Given the description of an element on the screen output the (x, y) to click on. 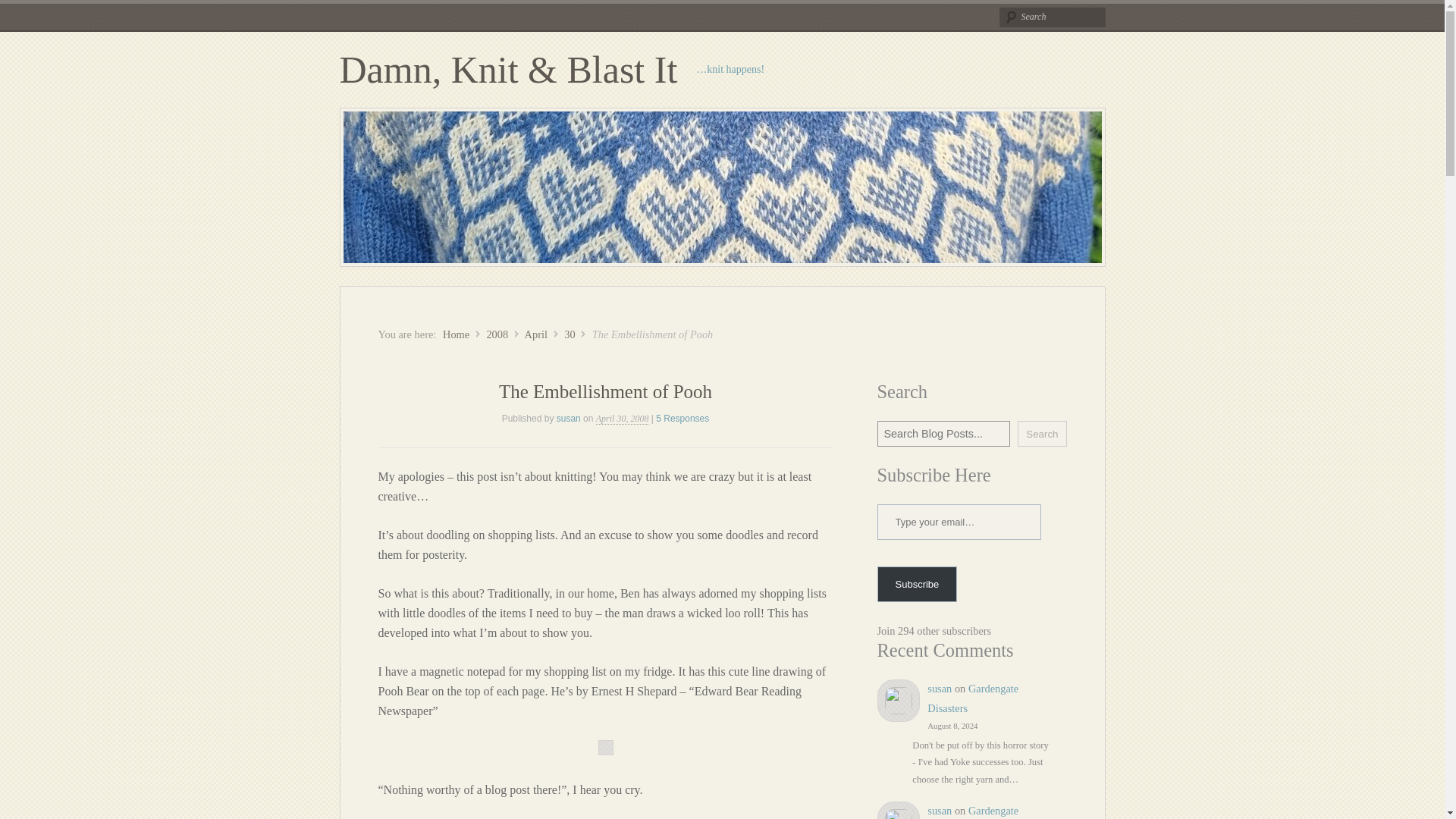
Search (1051, 17)
Comment on The Embellishment of Pooh (682, 418)
5 Responses (682, 418)
The Embellishment of Pooh (605, 391)
2008 (497, 334)
Home (455, 334)
April 2008 (535, 334)
Search (23, 10)
Wednesday, April 30th, 2008, 5:55 am (622, 419)
Search (1051, 17)
